Given the description of an element on the screen output the (x, y) to click on. 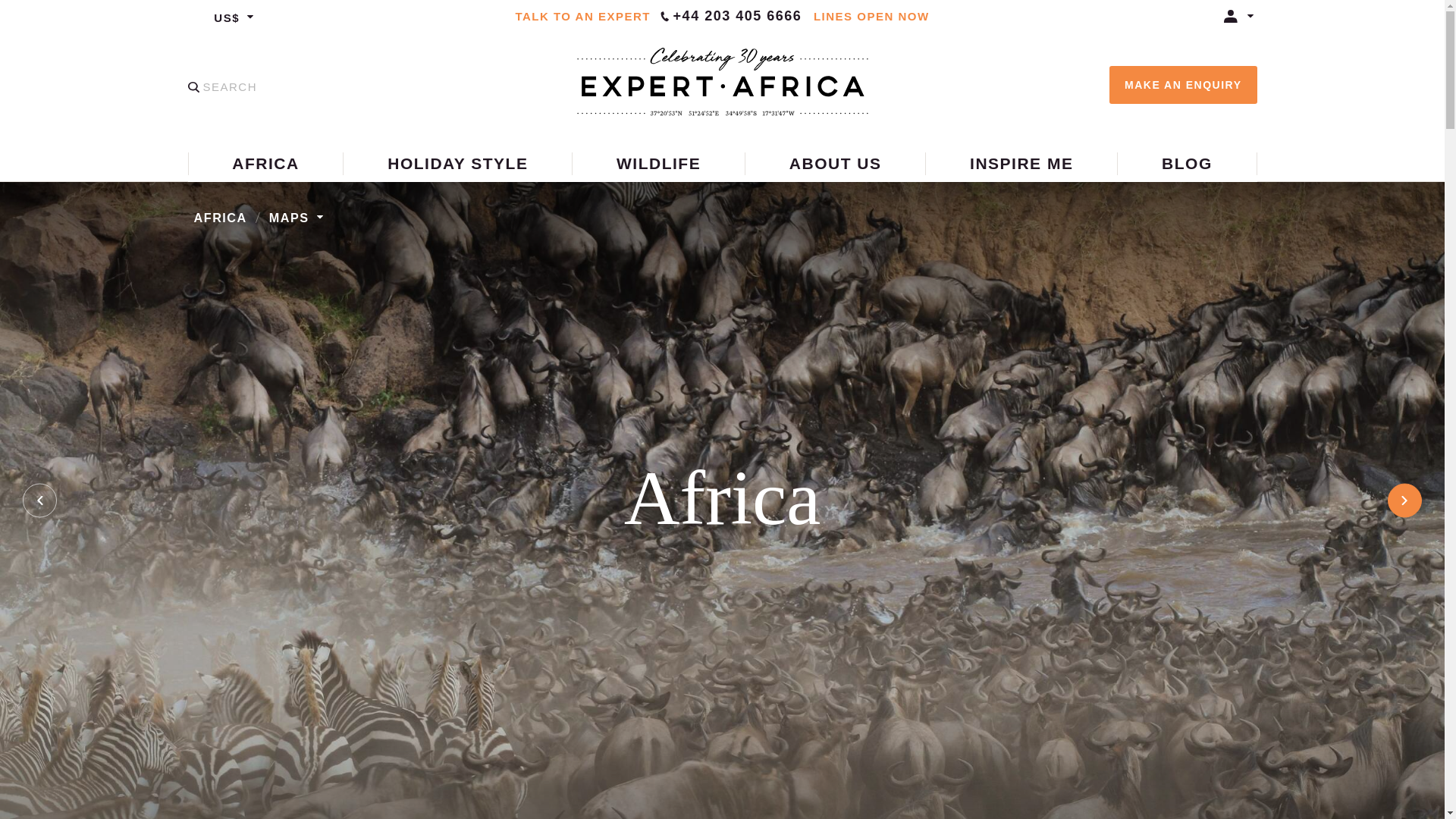
BLOG (1185, 162)
WILDLIFE (658, 162)
HOLIDAY STYLE (457, 162)
MAKE AN ENQUIRY (1182, 85)
ABOUT US (834, 162)
AFRICA (265, 162)
Expert Africa (722, 81)
SEARCH (222, 86)
INSPIRE ME (1020, 162)
